Given the description of an element on the screen output the (x, y) to click on. 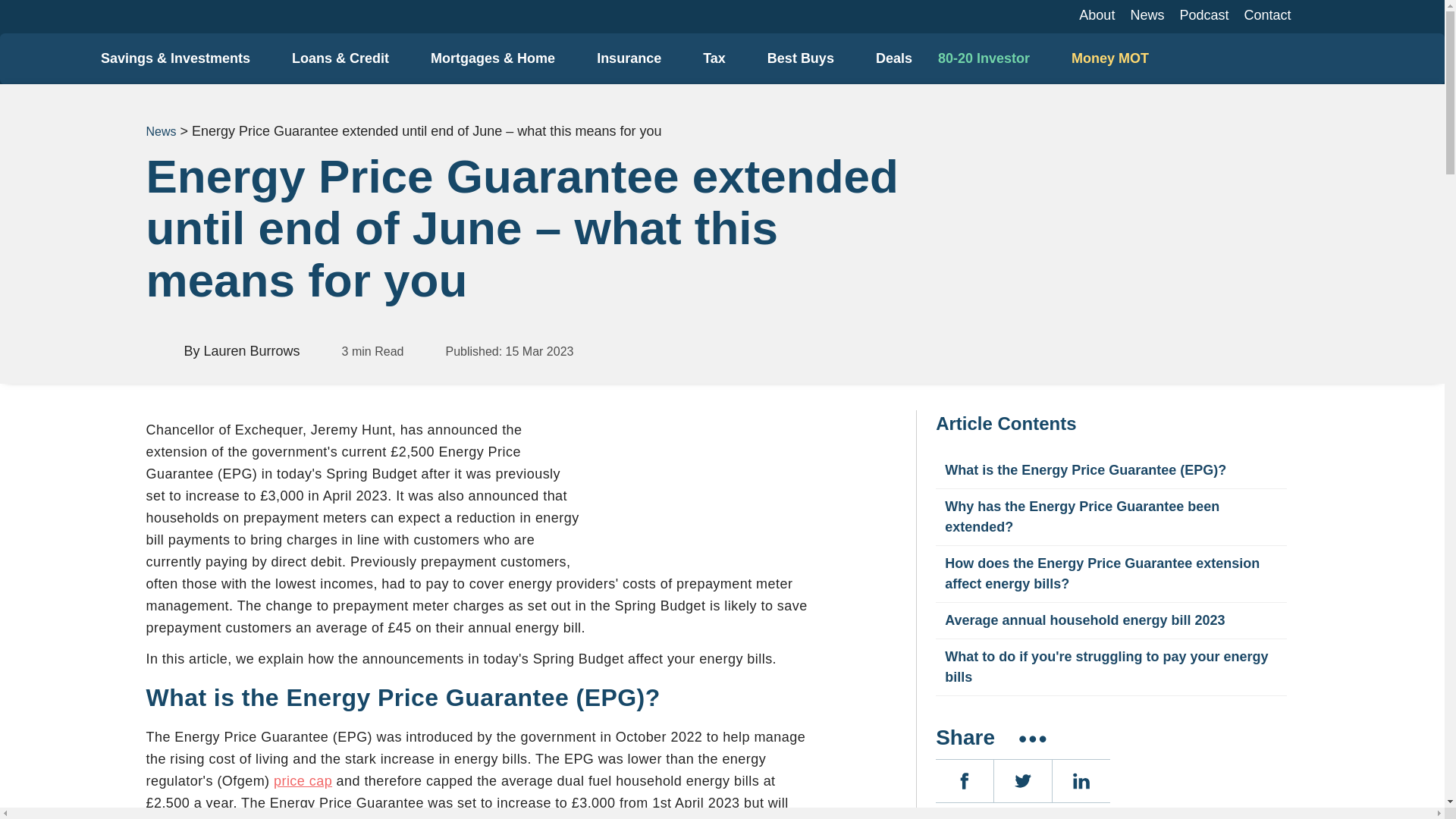
Money To The Masses (43, 46)
News (1147, 15)
About (1096, 15)
Contact (1267, 15)
Podcast (1204, 15)
